Given the description of an element on the screen output the (x, y) to click on. 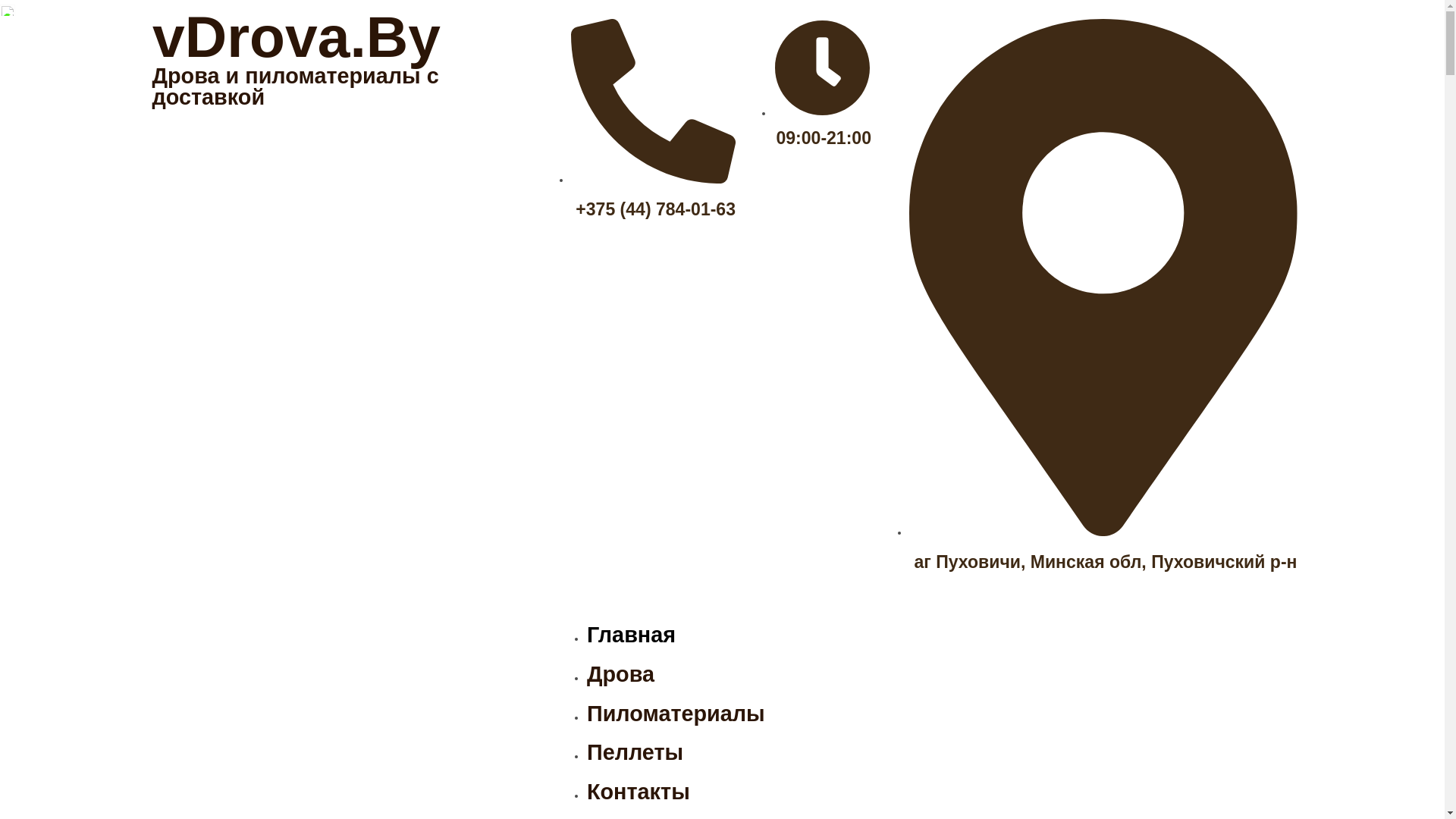
vDrova.By Element type: text (295, 36)
+375 (44) 784-01-63 Element type: text (653, 192)
